Given the description of an element on the screen output the (x, y) to click on. 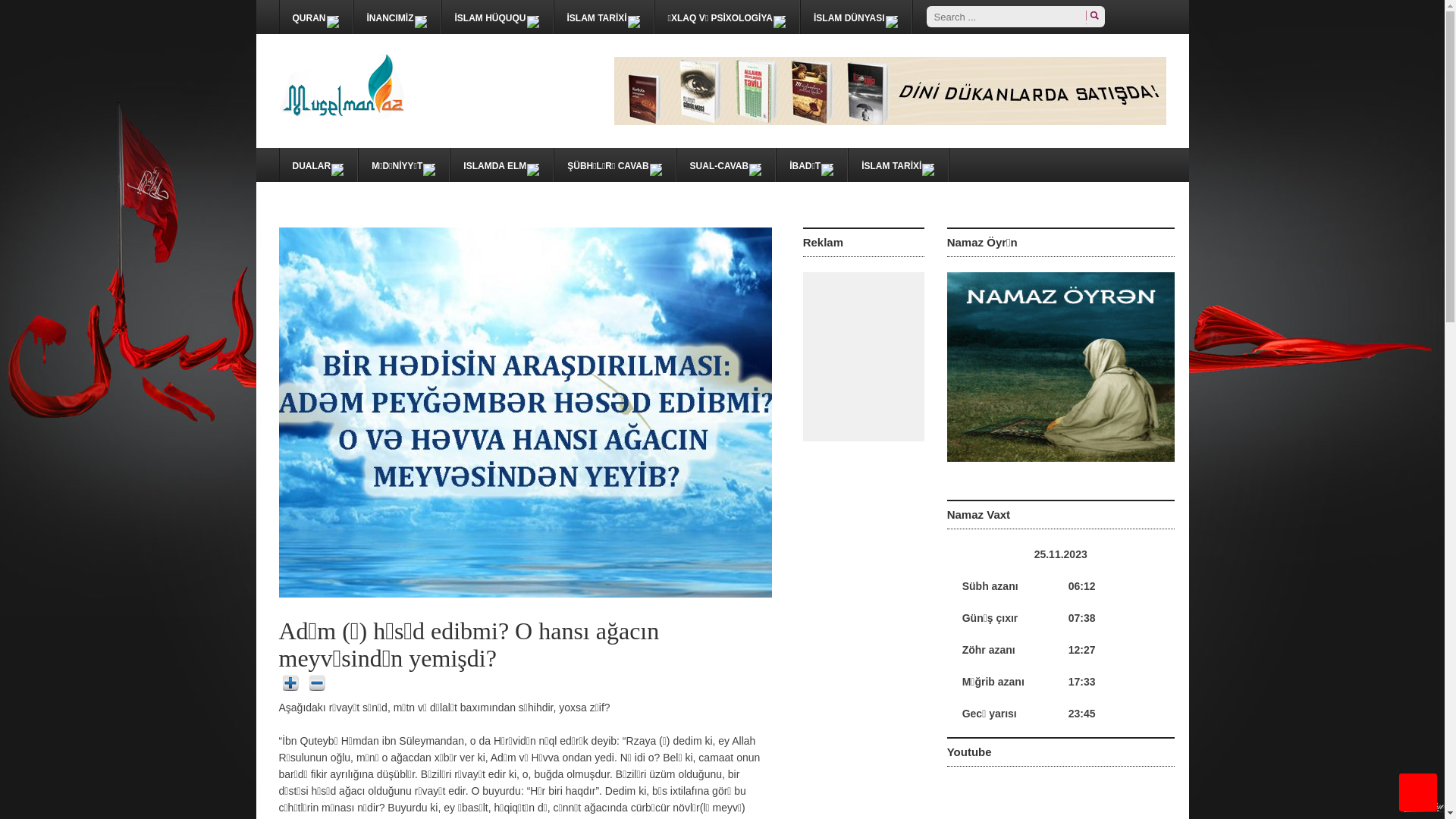
DUALAR Element type: text (317, 164)
SUAL-CAVAB Element type: text (726, 164)
QURAN Element type: text (315, 17)
Search Element type: text (1091, 16)
ISLAMDA ELM Element type: text (501, 164)
